Given the description of an element on the screen output the (x, y) to click on. 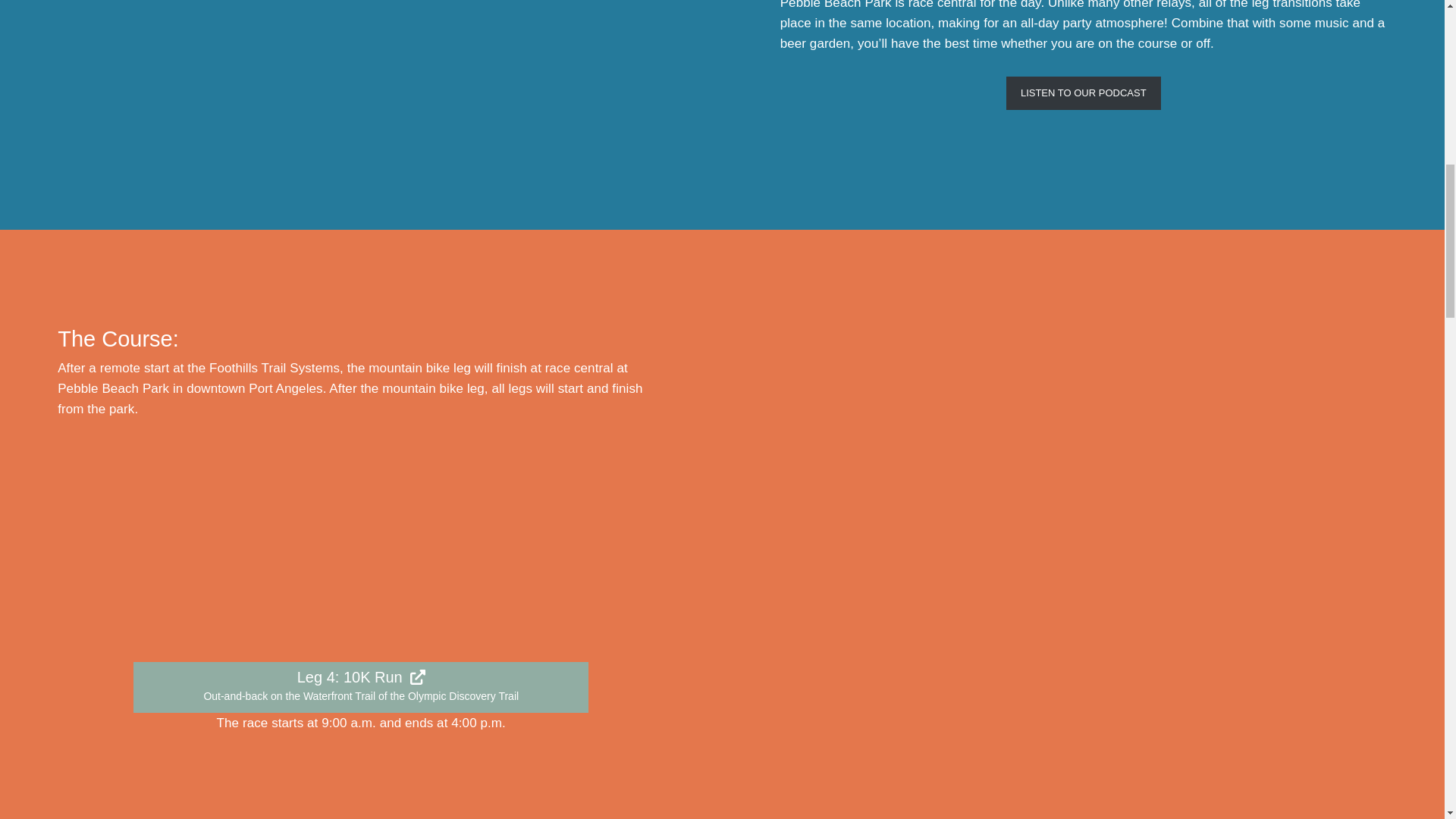
Pebble Beach Park (835, 4)
LISTEN TO OUR PODCAST (1083, 92)
